Given the description of an element on the screen output the (x, y) to click on. 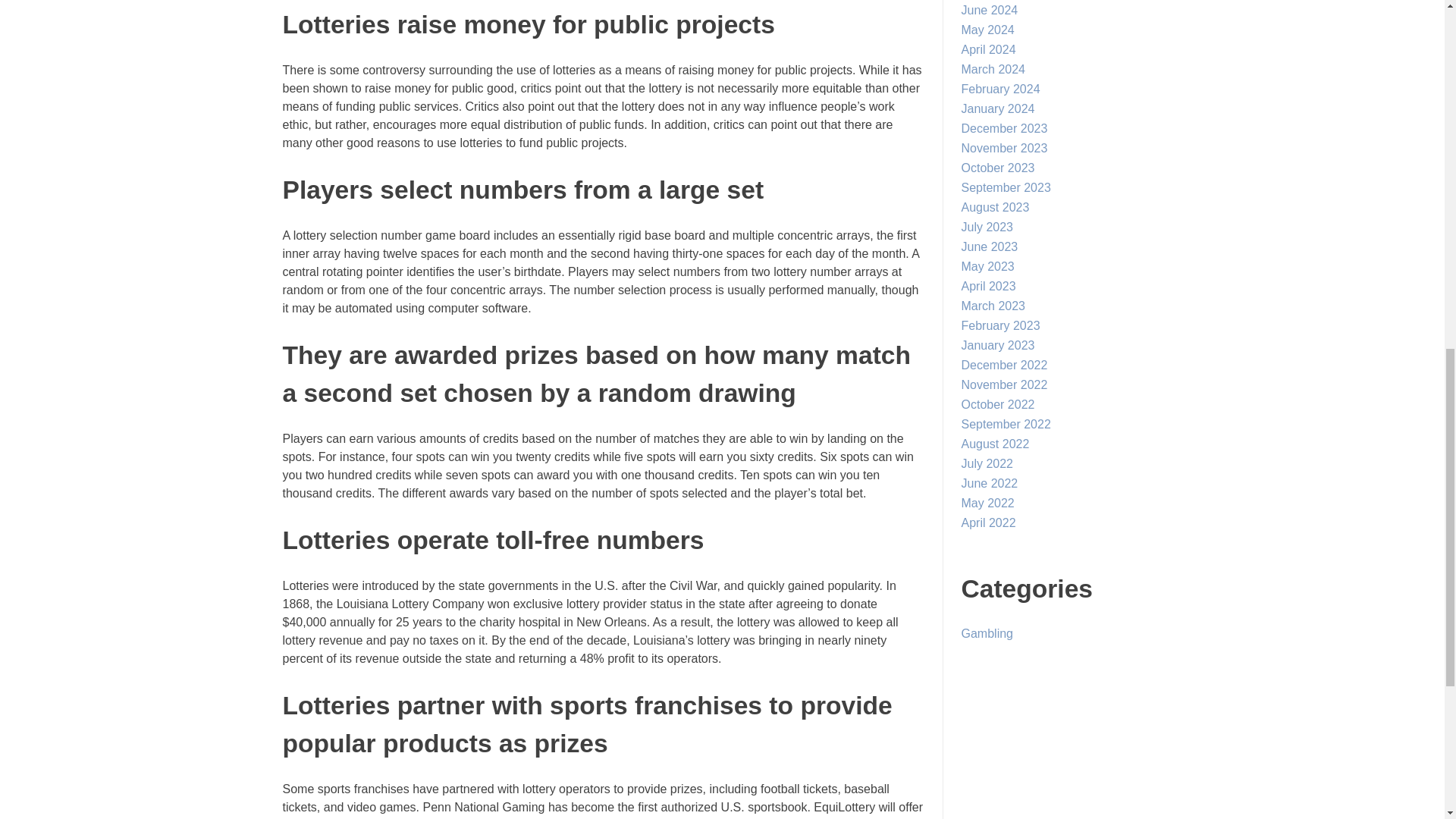
October 2022 (997, 404)
April 2023 (988, 286)
June 2024 (988, 10)
February 2024 (1000, 88)
May 2023 (987, 266)
June 2023 (988, 246)
December 2022 (1004, 364)
November 2023 (1004, 147)
March 2023 (993, 305)
December 2023 (1004, 128)
